Given the description of an element on the screen output the (x, y) to click on. 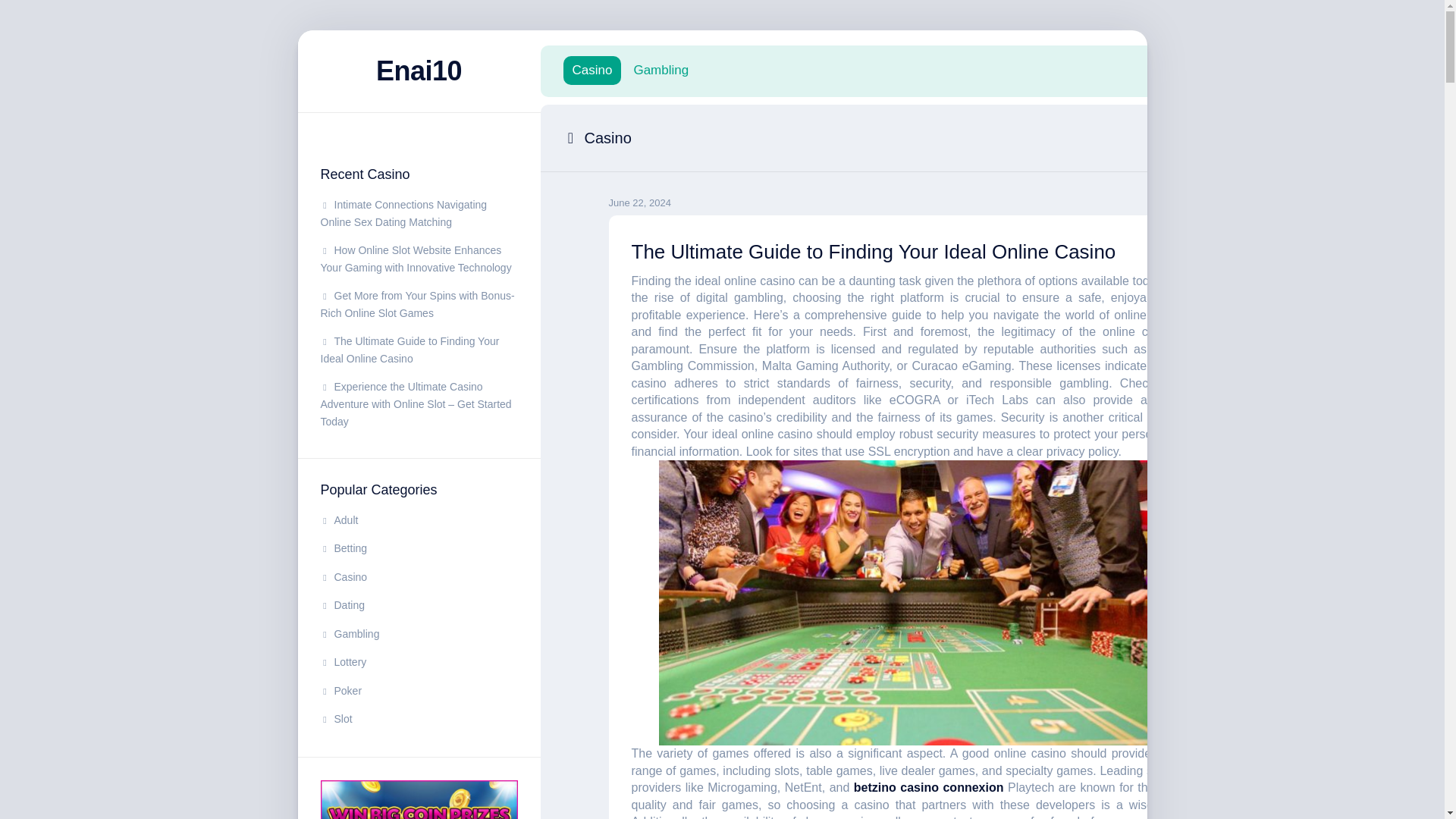
Casino (343, 576)
Betting (343, 548)
Lottery (343, 662)
Casino (591, 70)
Dating (342, 604)
The Ultimate Guide to Finding Your Ideal Online Casino (409, 349)
Poker (340, 689)
Adult (339, 520)
The Ultimate Guide to Finding Your Ideal Online Casino (872, 250)
Intimate Connections Navigating Online Sex Dating Matching (403, 214)
Slot (336, 718)
Enai10 (418, 71)
Gambling (349, 633)
Gambling (660, 70)
